Given the description of an element on the screen output the (x, y) to click on. 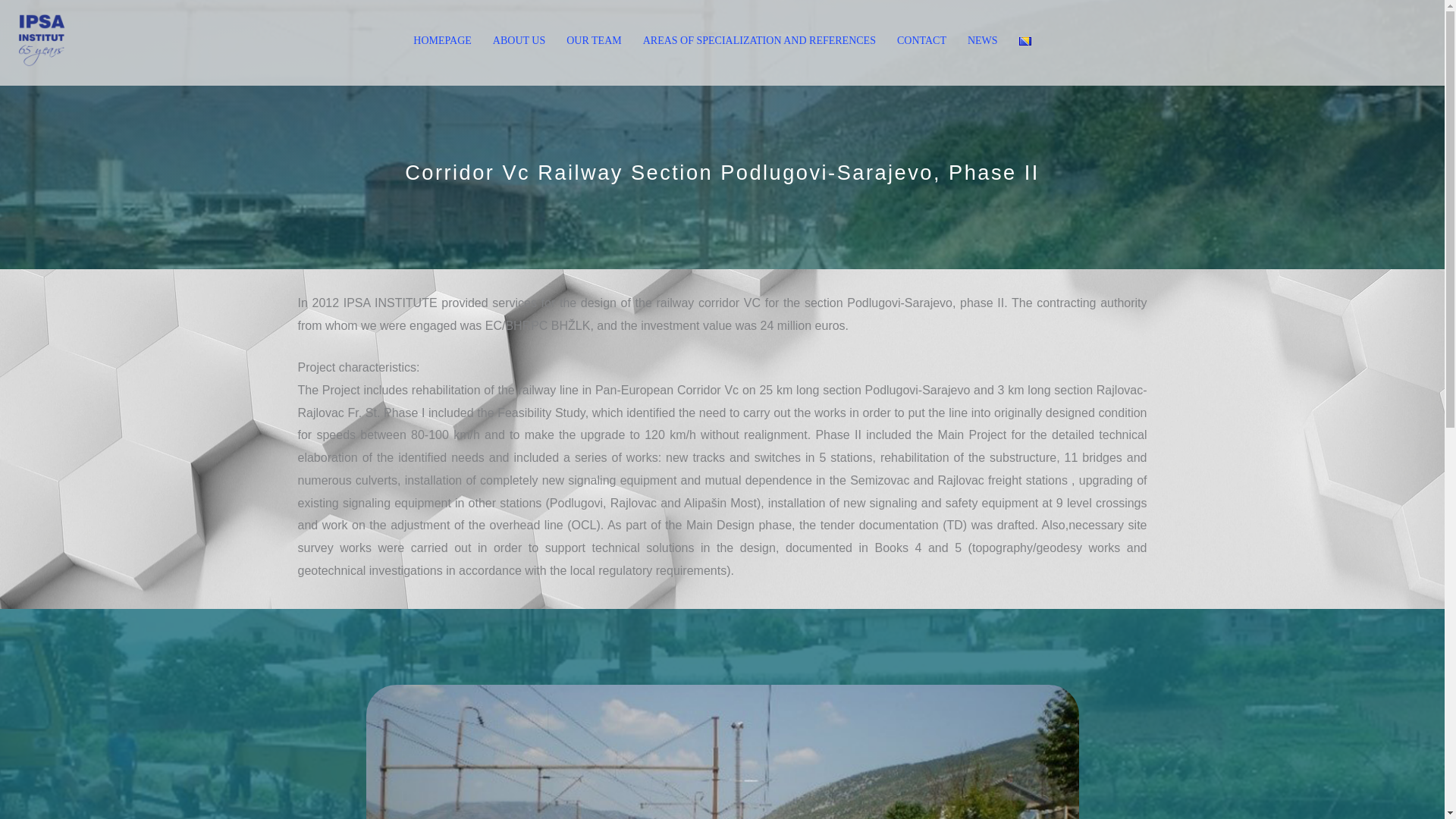
AREAS OF SPECIALIZATION AND REFERENCES (758, 40)
HOMEPAGE (442, 40)
ABOUT US (518, 40)
OUR TEAM (593, 40)
Search (62, 30)
